Given the description of an element on the screen output the (x, y) to click on. 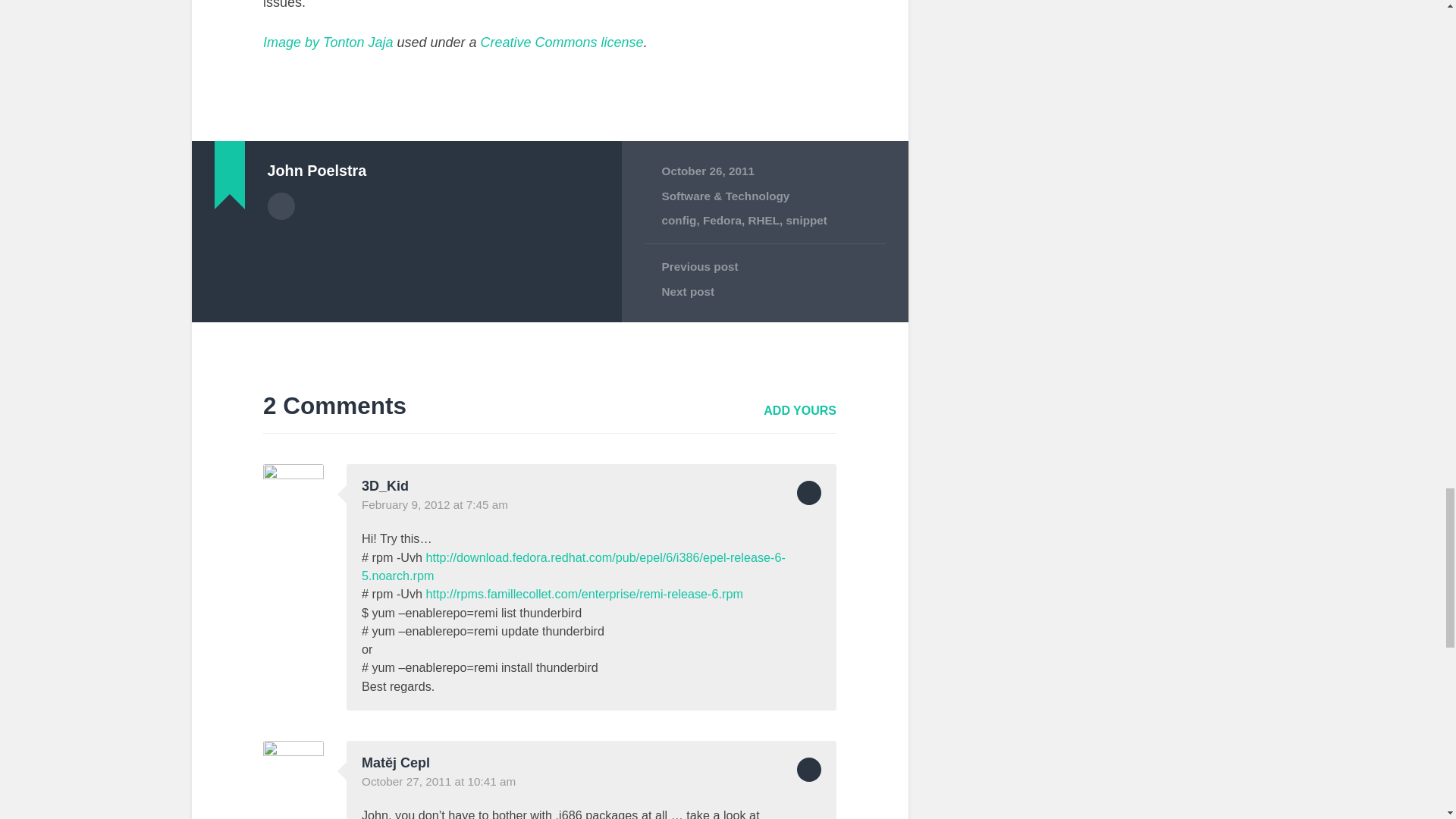
snippet (806, 219)
Next post (765, 291)
RHEL (763, 219)
Creative Commons license (561, 42)
Fedora (722, 219)
Reply (808, 492)
February 9, 2012 at 7:45 am (434, 504)
Image by Tonton Jaja (328, 42)
Reply (808, 769)
October 27, 2011 at 10:41 am (438, 780)
